Given the description of an element on the screen output the (x, y) to click on. 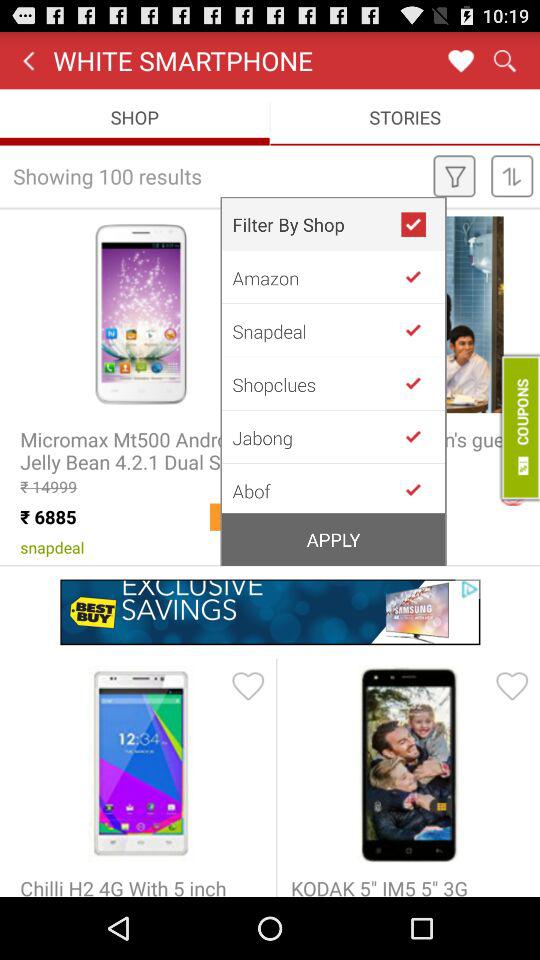
abof (421, 488)
